Given the description of an element on the screen output the (x, y) to click on. 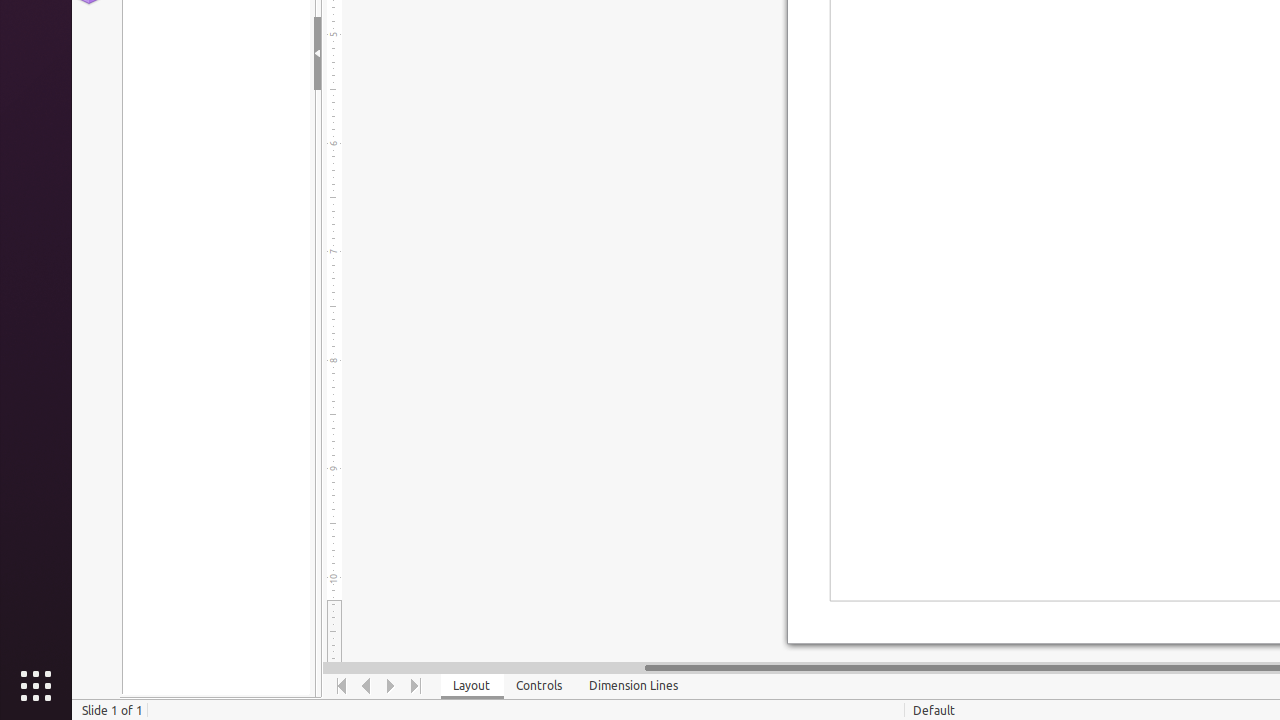
Show Applications Element type: toggle-button (36, 686)
Move Right Element type: push-button (391, 686)
Controls Element type: page-tab (540, 686)
